Given the description of an element on the screen output the (x, y) to click on. 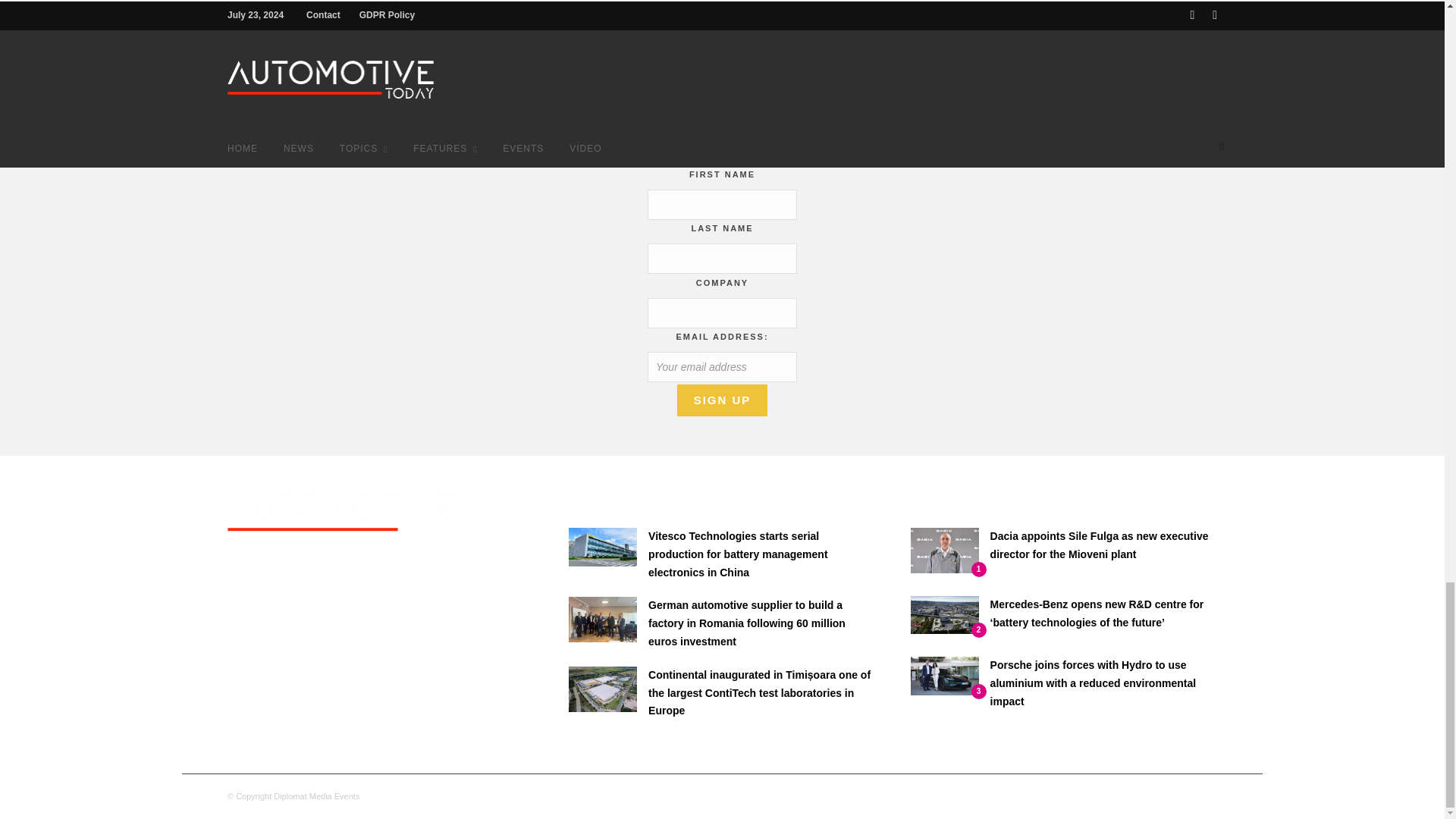
Sign up (722, 400)
